Given the description of an element on the screen output the (x, y) to click on. 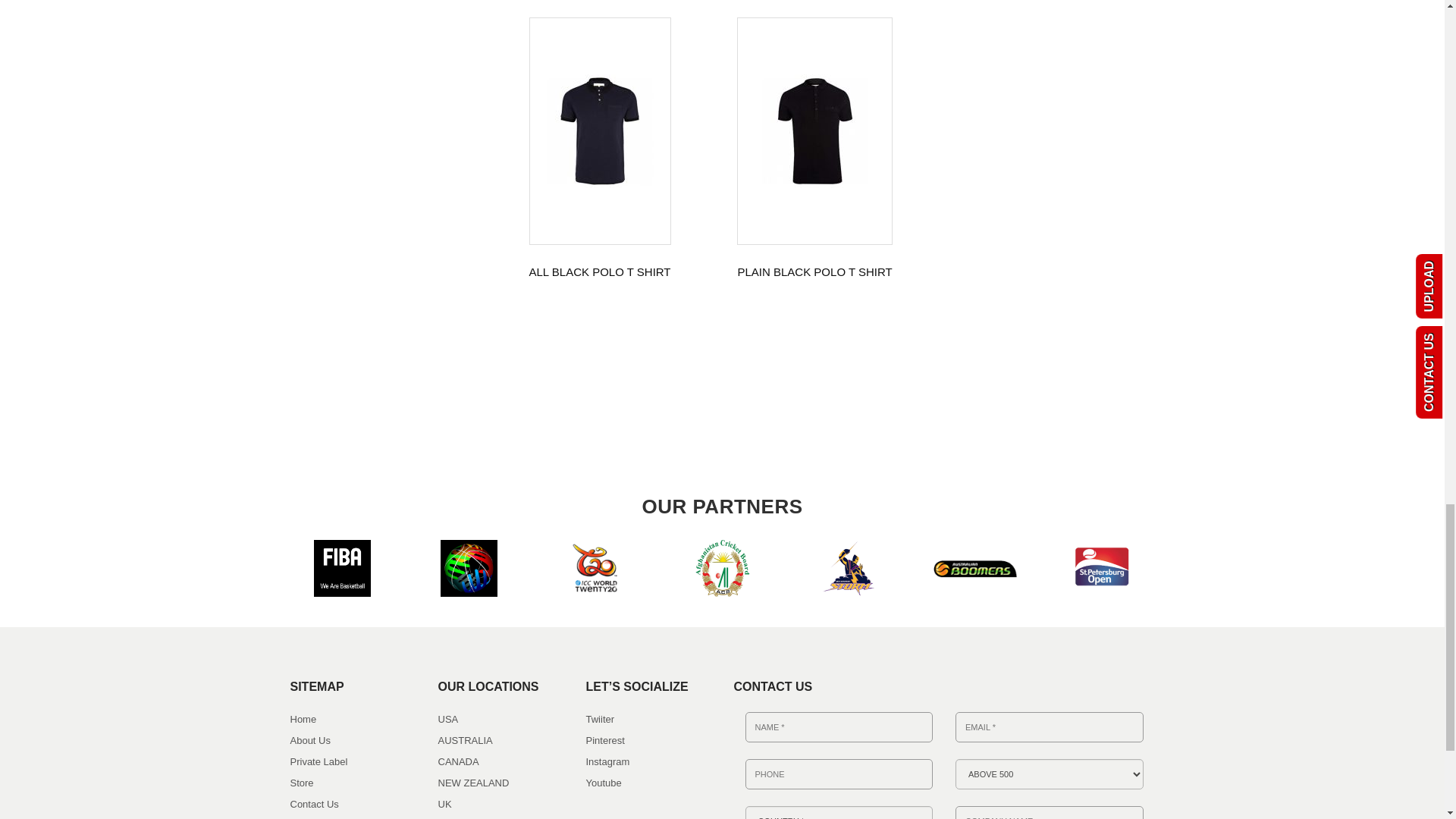
plus size dress wholesale (721, 568)
Wholesale All Black Polo T Shirt in USA (599, 131)
Fiba (467, 568)
bulk wholesale clothing (849, 568)
Wholesale Plain Black Polo T Shirt in USA (815, 131)
FIBA (342, 568)
ICC World T20 (595, 568)
